Given the description of an element on the screen output the (x, y) to click on. 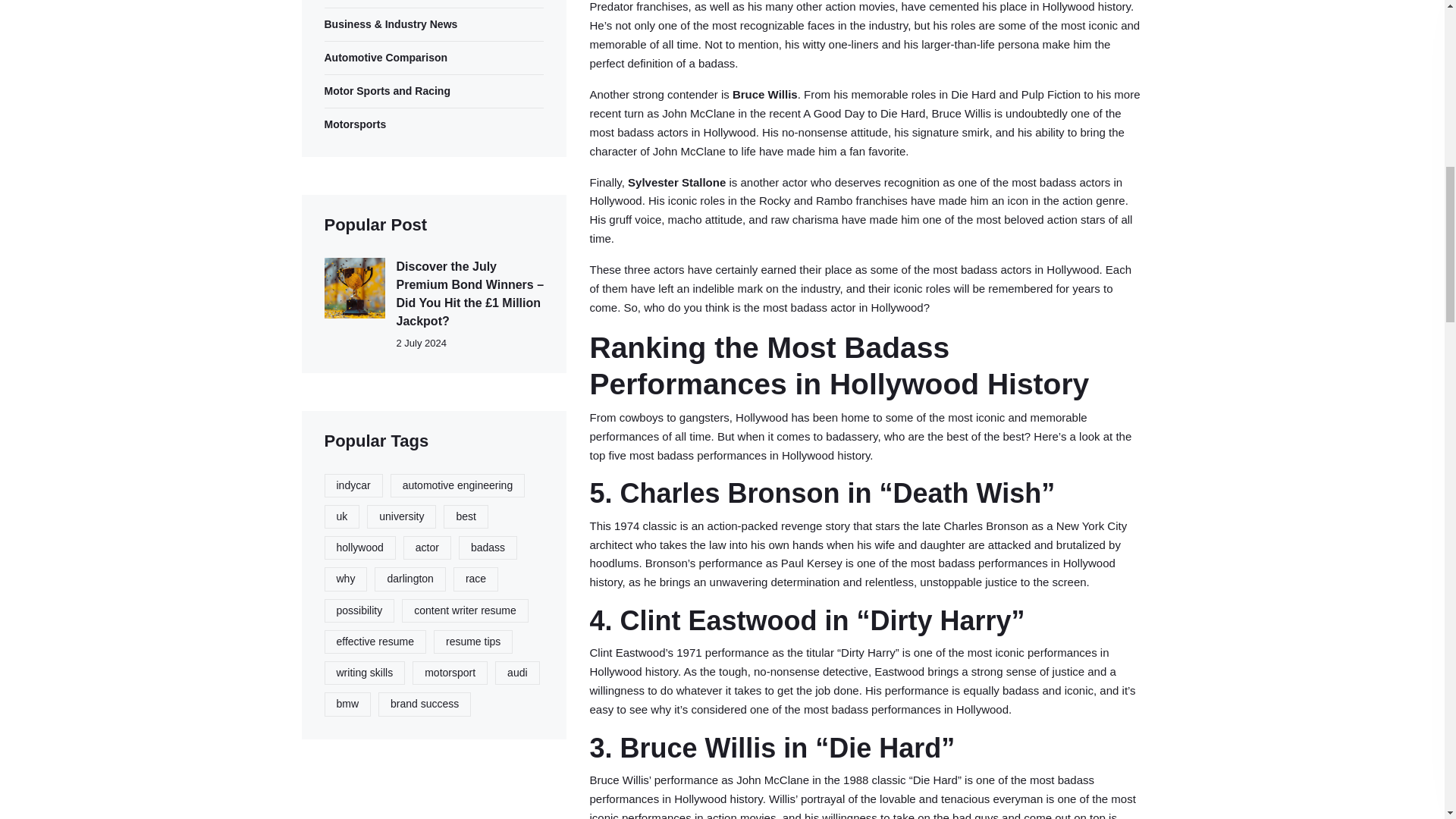
university (400, 516)
automotive engineering (457, 485)
why (346, 578)
Motorsports (434, 124)
best (465, 516)
actor (427, 547)
content writer resume (464, 610)
badass (487, 547)
audi (516, 672)
Automotive Comparison (434, 57)
writing skills (365, 672)
bmw (347, 703)
hollywood (360, 547)
race (474, 578)
resume tips (472, 641)
